Given the description of an element on the screen output the (x, y) to click on. 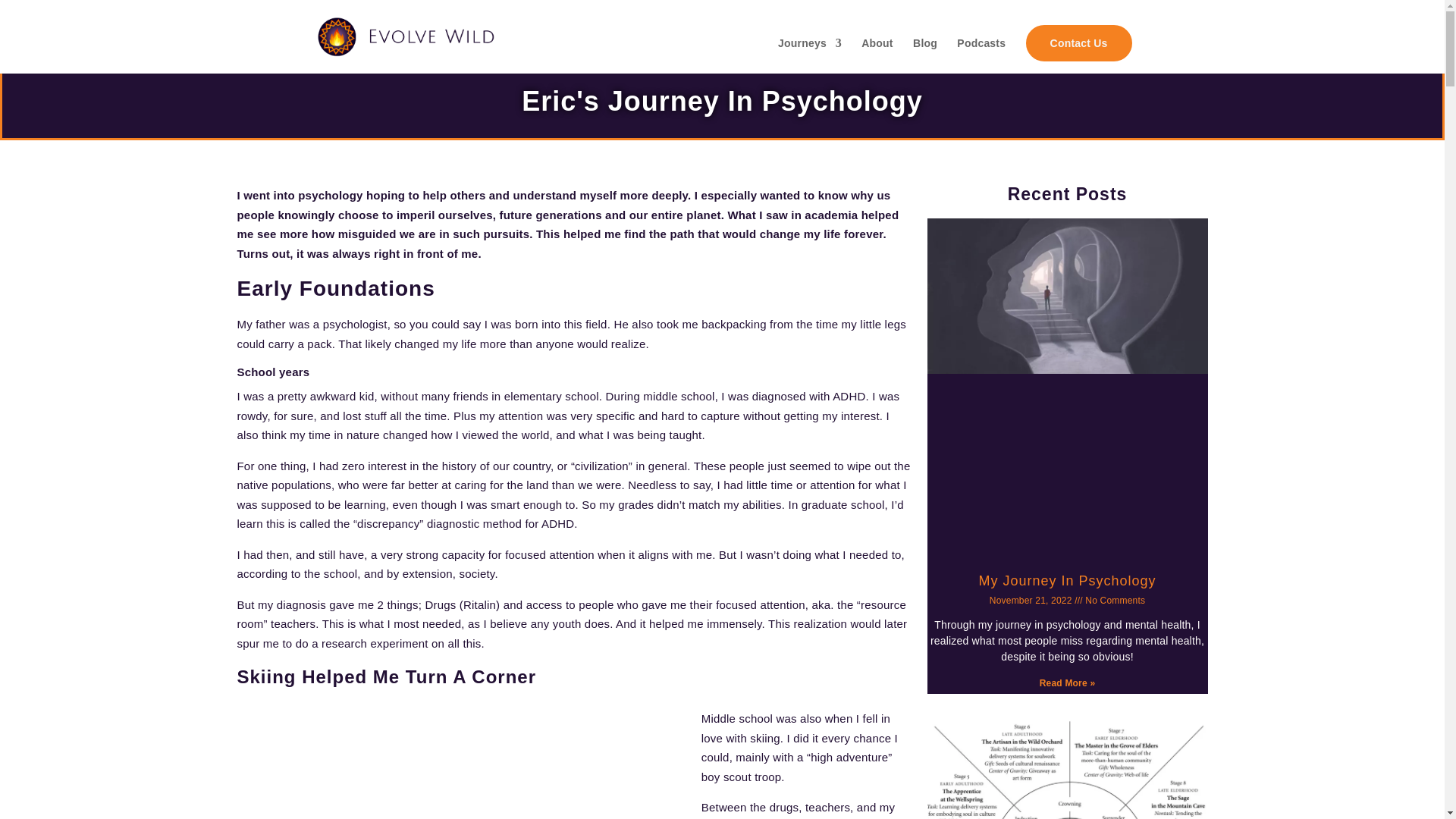
Journeys (809, 55)
Podcasts (981, 55)
Contact Us (1079, 42)
My Journey In Psychology (1067, 580)
